Given the description of an element on the screen output the (x, y) to click on. 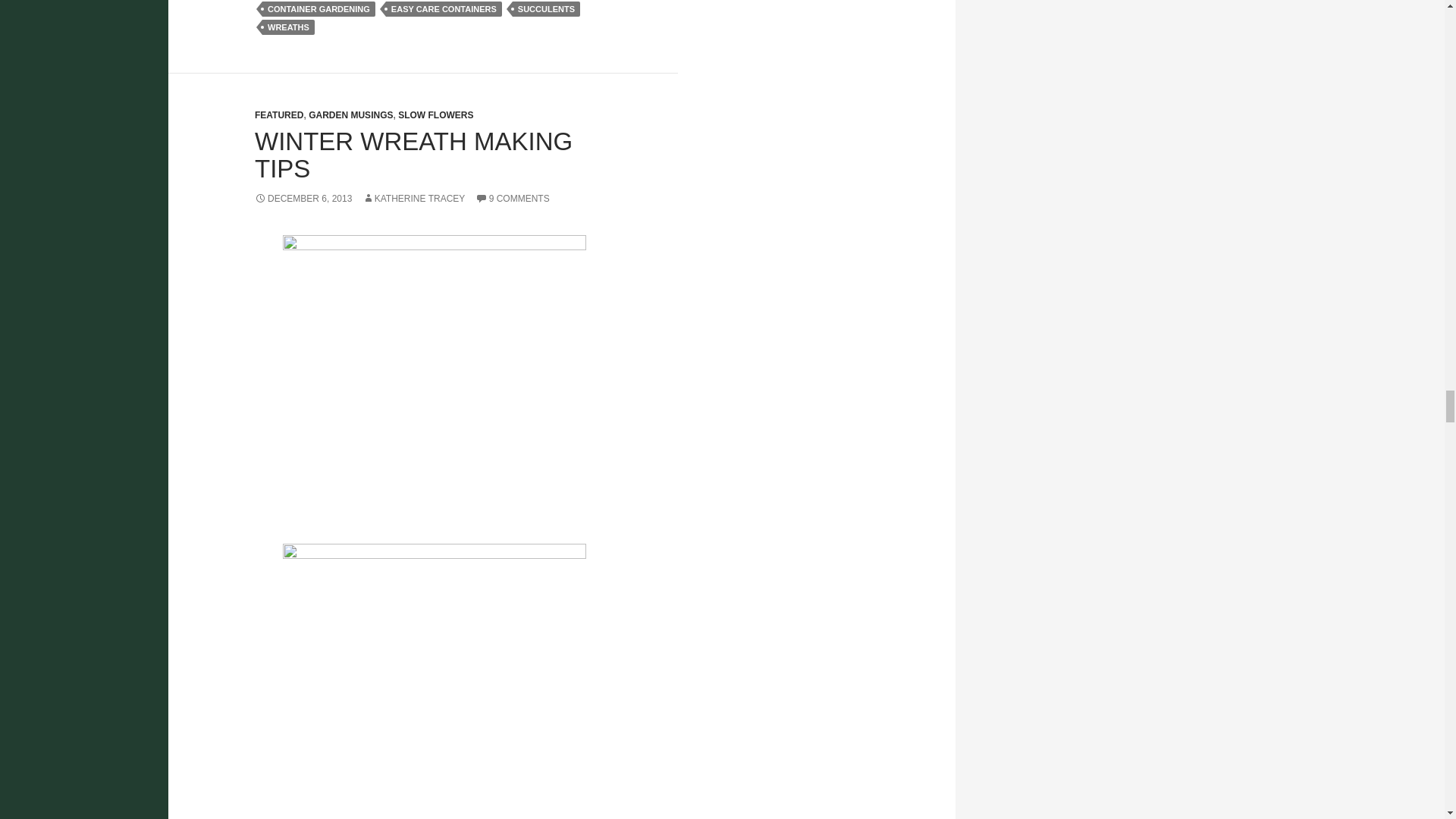
wreath1.2013.detail400 (434, 681)
wreath1.2013.400 (434, 386)
